Given the description of an element on the screen output the (x, y) to click on. 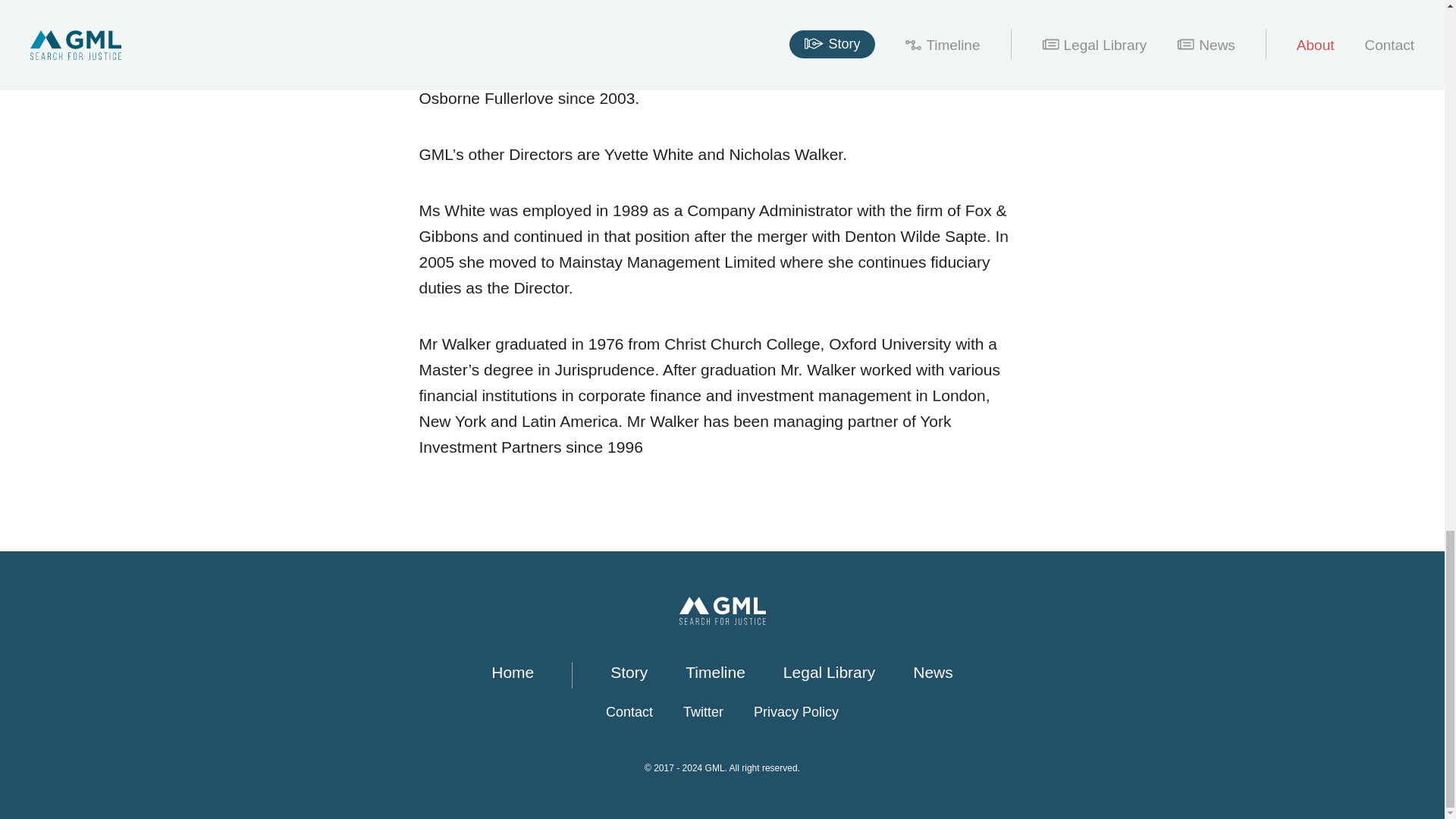
Story (628, 671)
News (932, 671)
Legal Library (829, 671)
Contact (628, 712)
Twitter (702, 712)
Privacy Policy (796, 712)
Timeline (715, 671)
Home (513, 671)
